Given the description of an element on the screen output the (x, y) to click on. 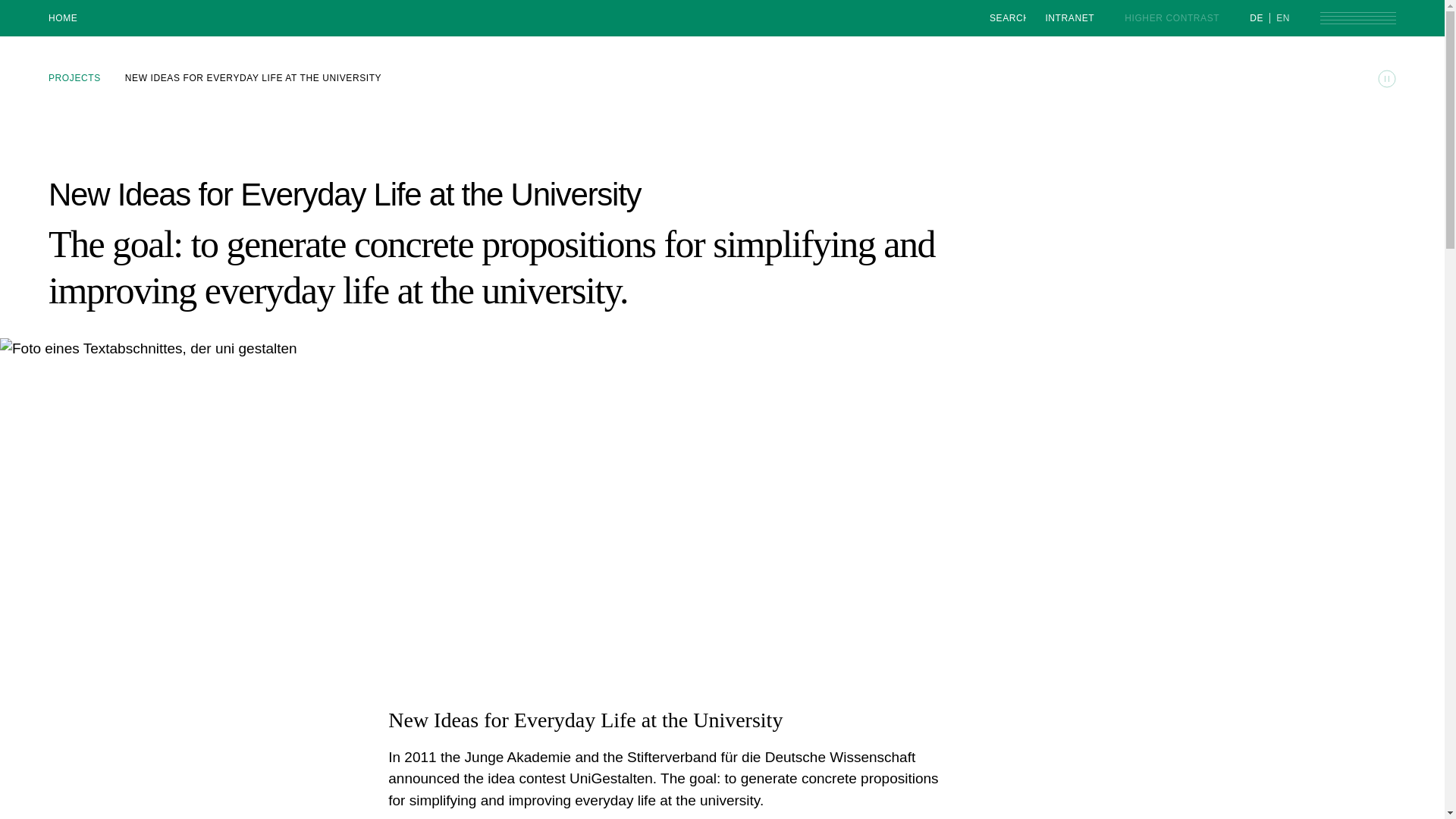
Open navigation menu (1358, 18)
HIGHER CONTRAST (1172, 17)
PROJECTS (74, 77)
Toggle animations (1386, 78)
HOME (62, 17)
Toggle animations (1386, 78)
INTRANET (1069, 17)
DE (1259, 17)
